Given the description of an element on the screen output the (x, y) to click on. 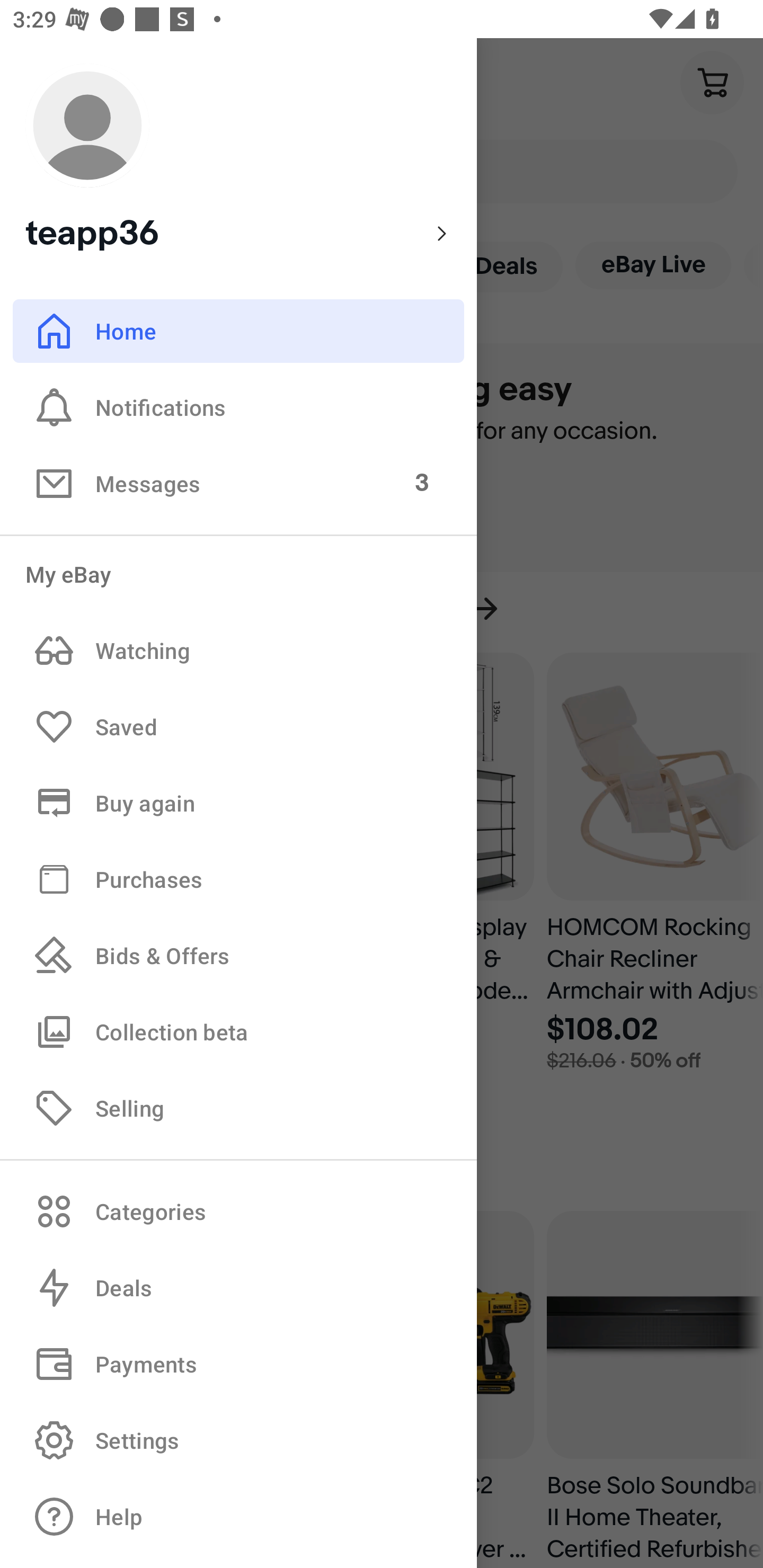
teapp36 (238, 158)
Home (238, 330)
Notifications (238, 406)
Messages 3 (238, 483)
Watching (238, 650)
Saved (238, 726)
Buy again (238, 802)
Purchases (238, 878)
Bids & Offers (238, 955)
Collection beta (238, 1031)
Selling (238, 1107)
Categories (238, 1210)
Deals (238, 1287)
Payments (238, 1363)
Settings (238, 1439)
Help (238, 1516)
